Given the description of an element on the screen output the (x, y) to click on. 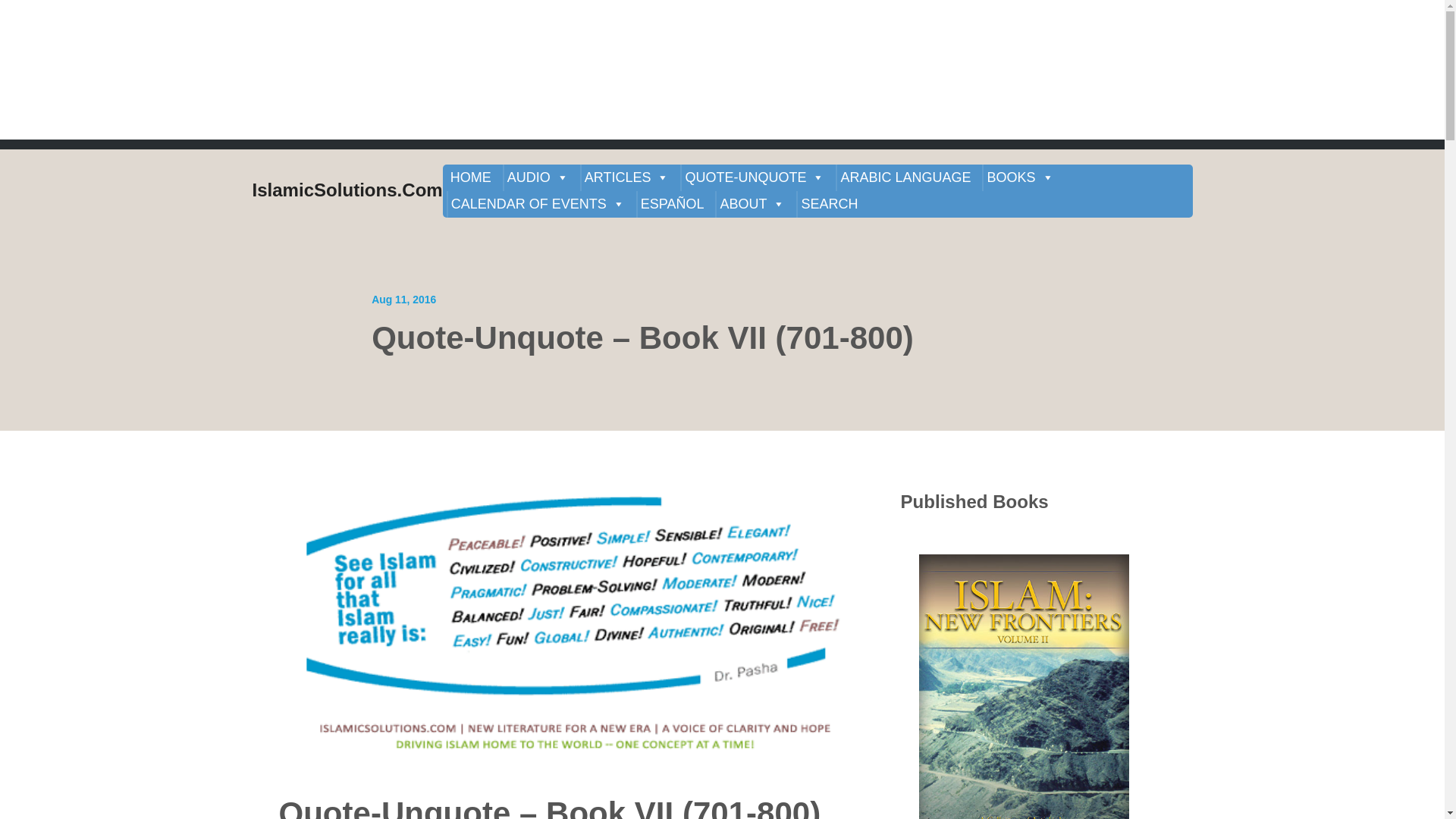
IslamicSolutions.Com (346, 190)
IslamicSolutions.Com (346, 190)
AUDIO (537, 177)
HOME (470, 177)
QUOTE-UNQUOTE (754, 177)
ARTICLES (626, 177)
